Given the description of an element on the screen output the (x, y) to click on. 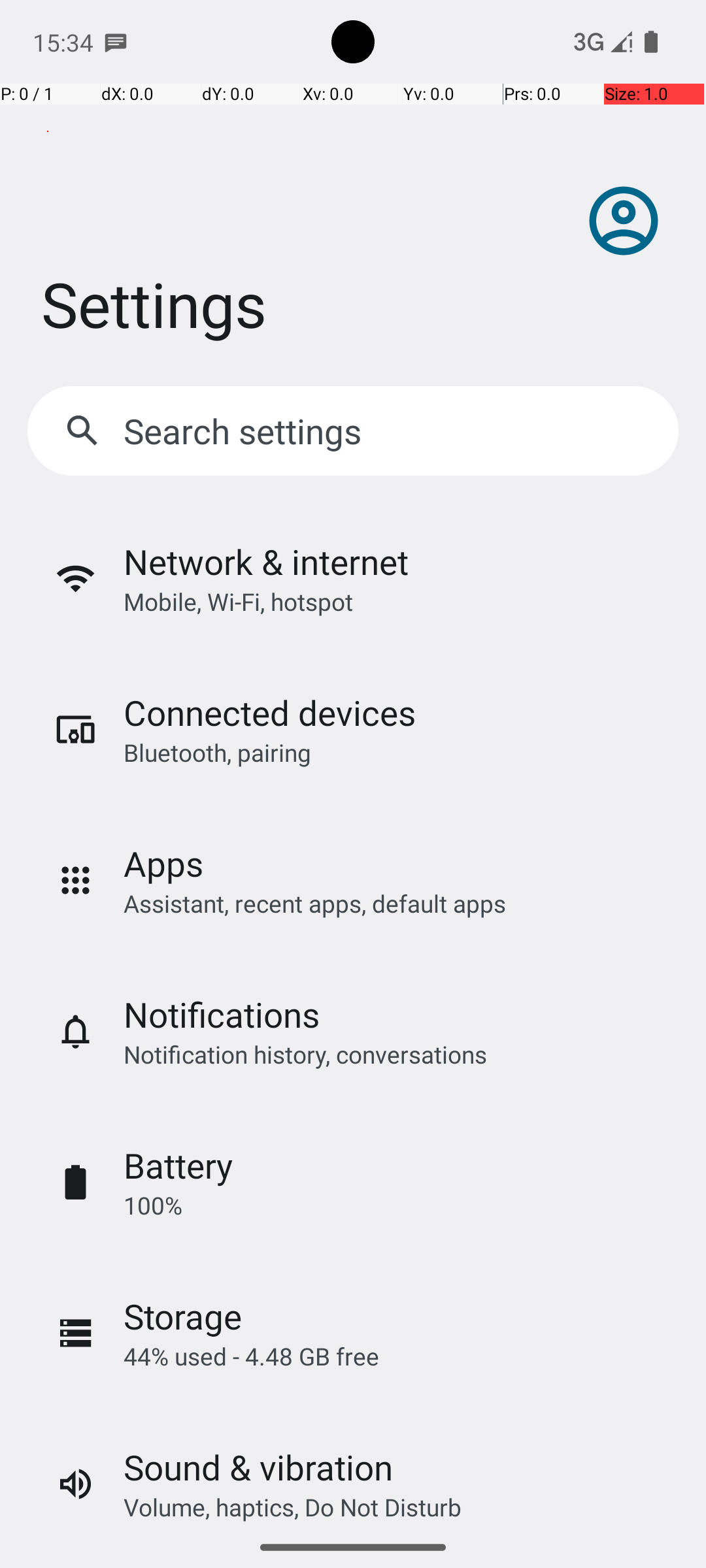
Profile picture, double tap to open Google Account Element type: android.widget.ImageView (623, 220)
Search settings Element type: android.widget.TextView (245, 430)
Network & internet Element type: android.widget.TextView (265, 561)
Mobile, Wi‑Fi, hotspot Element type: android.widget.TextView (238, 601)
Connected devices Element type: android.widget.TextView (269, 712)
Bluetooth, pairing Element type: android.widget.TextView (217, 751)
Assistant, recent apps, default apps Element type: android.widget.TextView (314, 902)
Notification history, conversations Element type: android.widget.TextView (305, 1053)
100% Element type: android.widget.TextView (152, 1204)
44% used - 4.48 GB free Element type: android.widget.TextView (251, 1355)
Volume, haptics, Do Not Disturb Element type: android.widget.TextView (292, 1506)
